Given the description of an element on the screen output the (x, y) to click on. 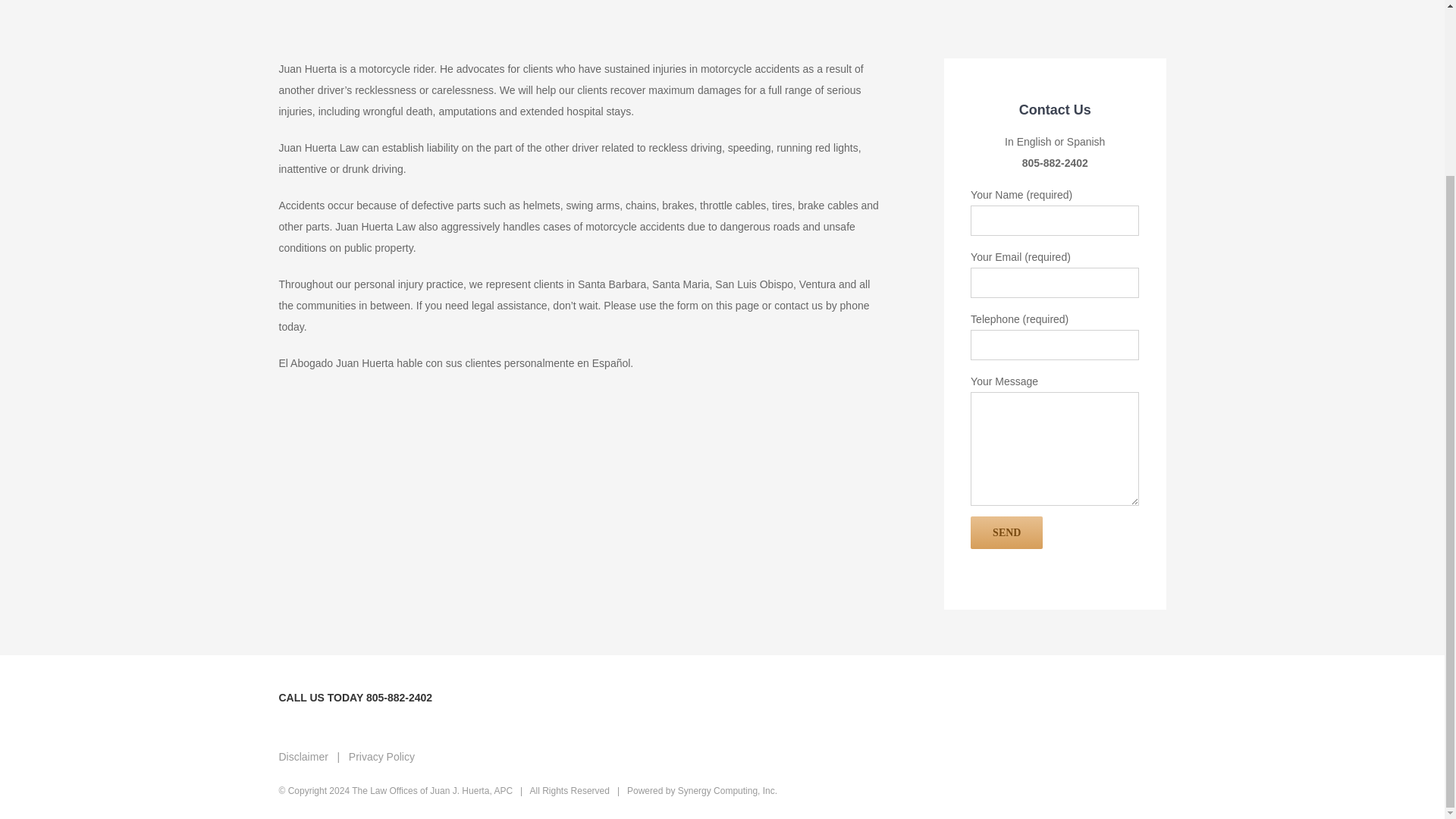
Send (1006, 532)
